Given the description of an element on the screen output the (x, y) to click on. 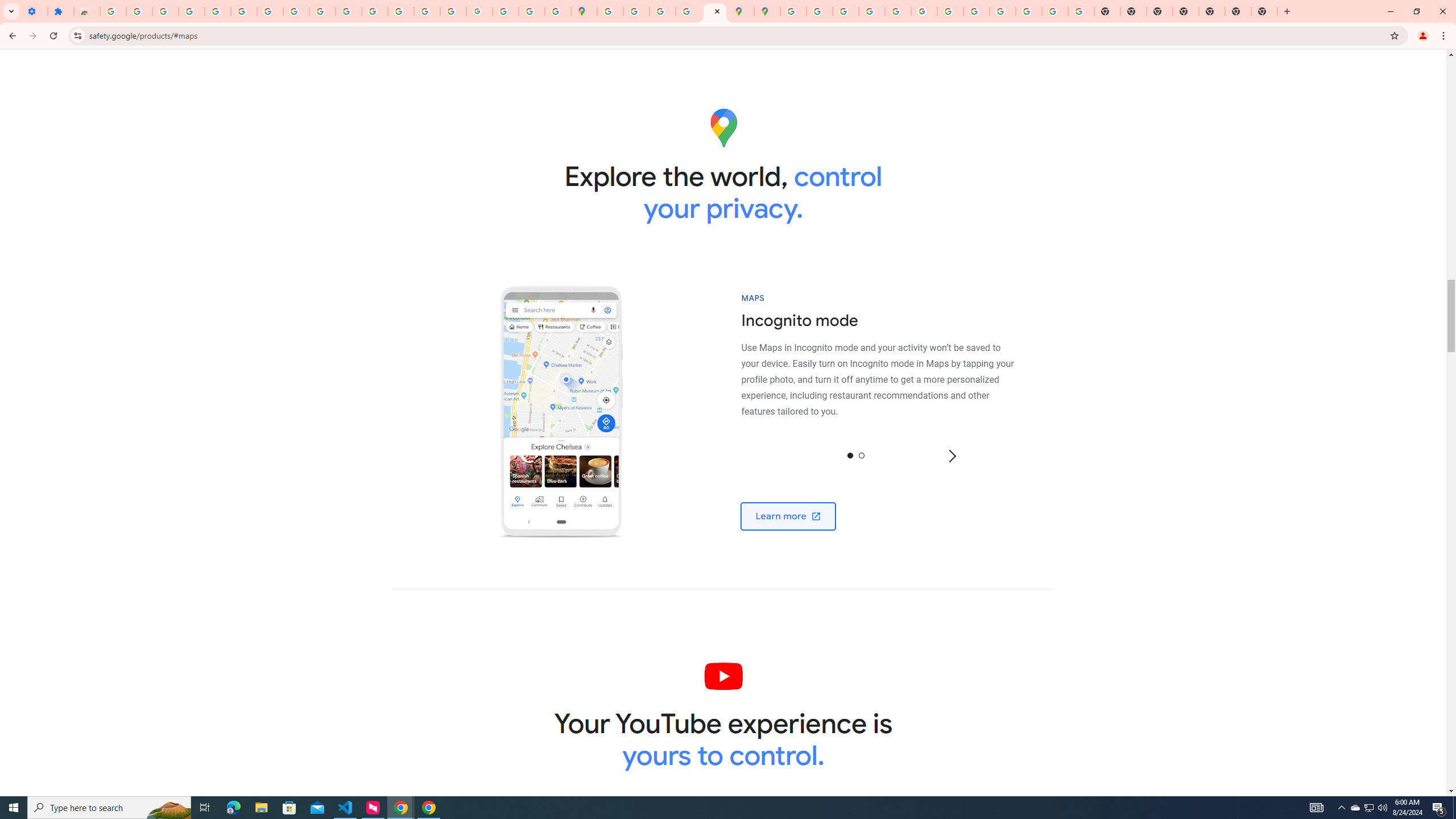
0 (850, 454)
AutomationID: siop-description-maps-1 (884, 364)
Reviews: Helix Fruit Jump Arcade Game (86, 11)
Sign in - Google Accounts (112, 11)
New Tab (1264, 11)
A phone featuring Maps (561, 411)
The Google Maps logo (722, 127)
